Given the description of an element on the screen output the (x, y) to click on. 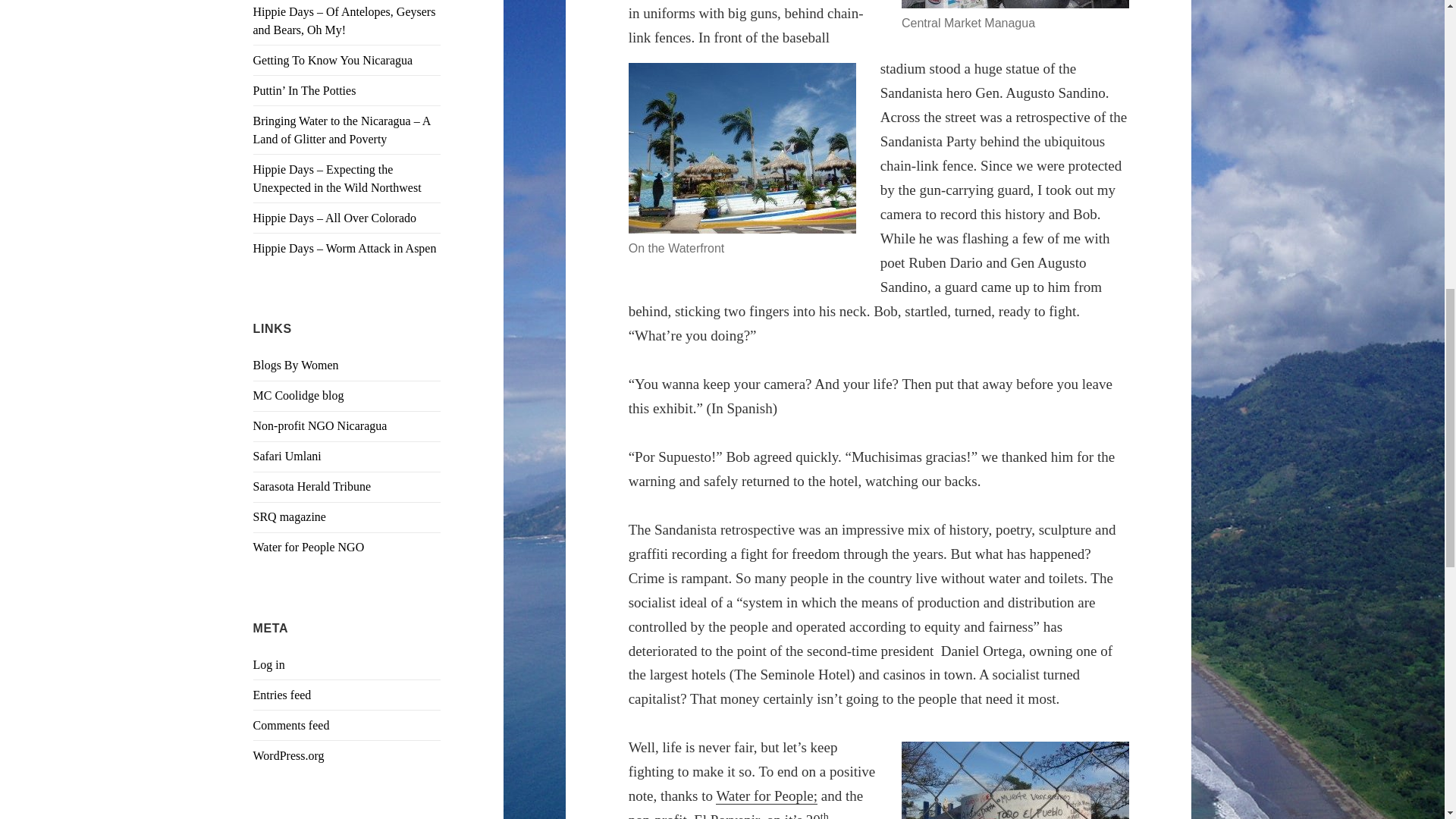
p3040210 (742, 148)
Water for People NGO (309, 546)
Safari Umlani (287, 455)
Non-profit NGO Nicaragua (320, 425)
SRQ magazine (289, 516)
Water for People; (766, 795)
Comments feed (291, 725)
Log in (269, 664)
Sarasota Herald Tribune (312, 486)
Getting To Know You Nicaragua (333, 60)
Blogs By Women (296, 364)
El Porvenir, (728, 815)
Entries feed (282, 694)
